Given the description of an element on the screen output the (x, y) to click on. 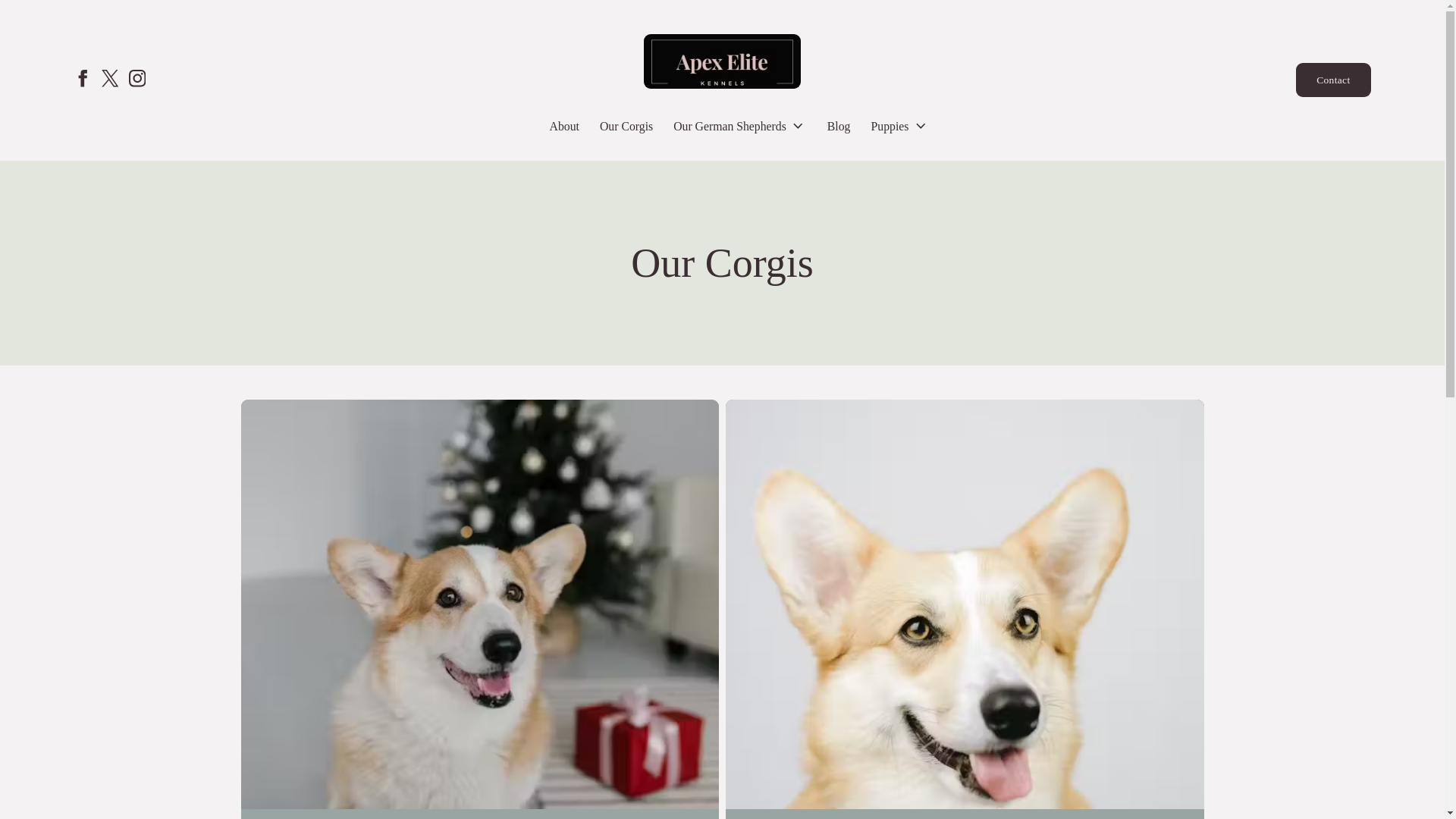
Our German Shepherds (739, 126)
Our Corgis (625, 126)
Contact (1332, 80)
Puppies (899, 126)
About (564, 126)
Blog (838, 126)
